Given the description of an element on the screen output the (x, y) to click on. 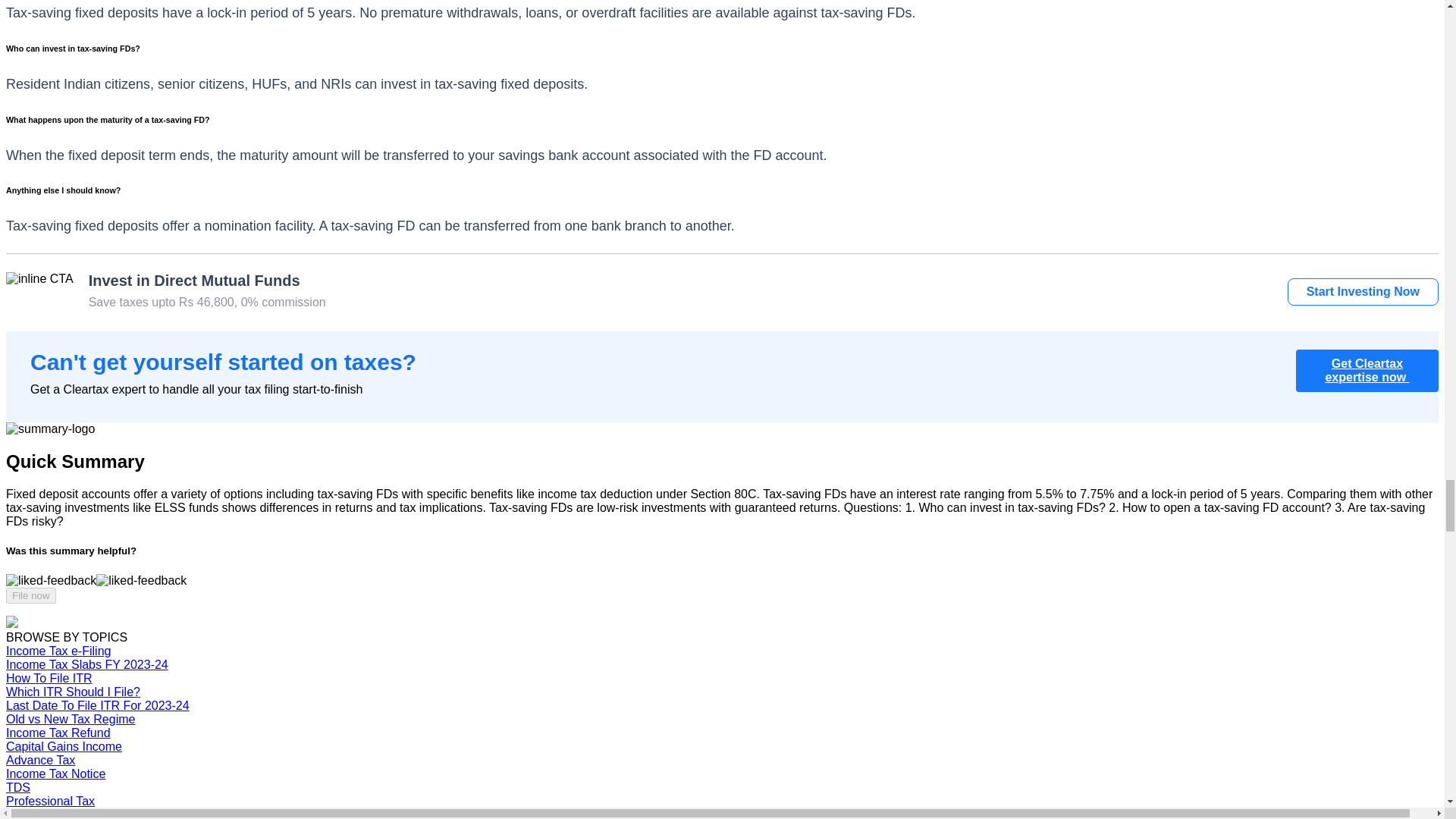
dislike (141, 581)
like (50, 581)
